Given the description of an element on the screen output the (x, y) to click on. 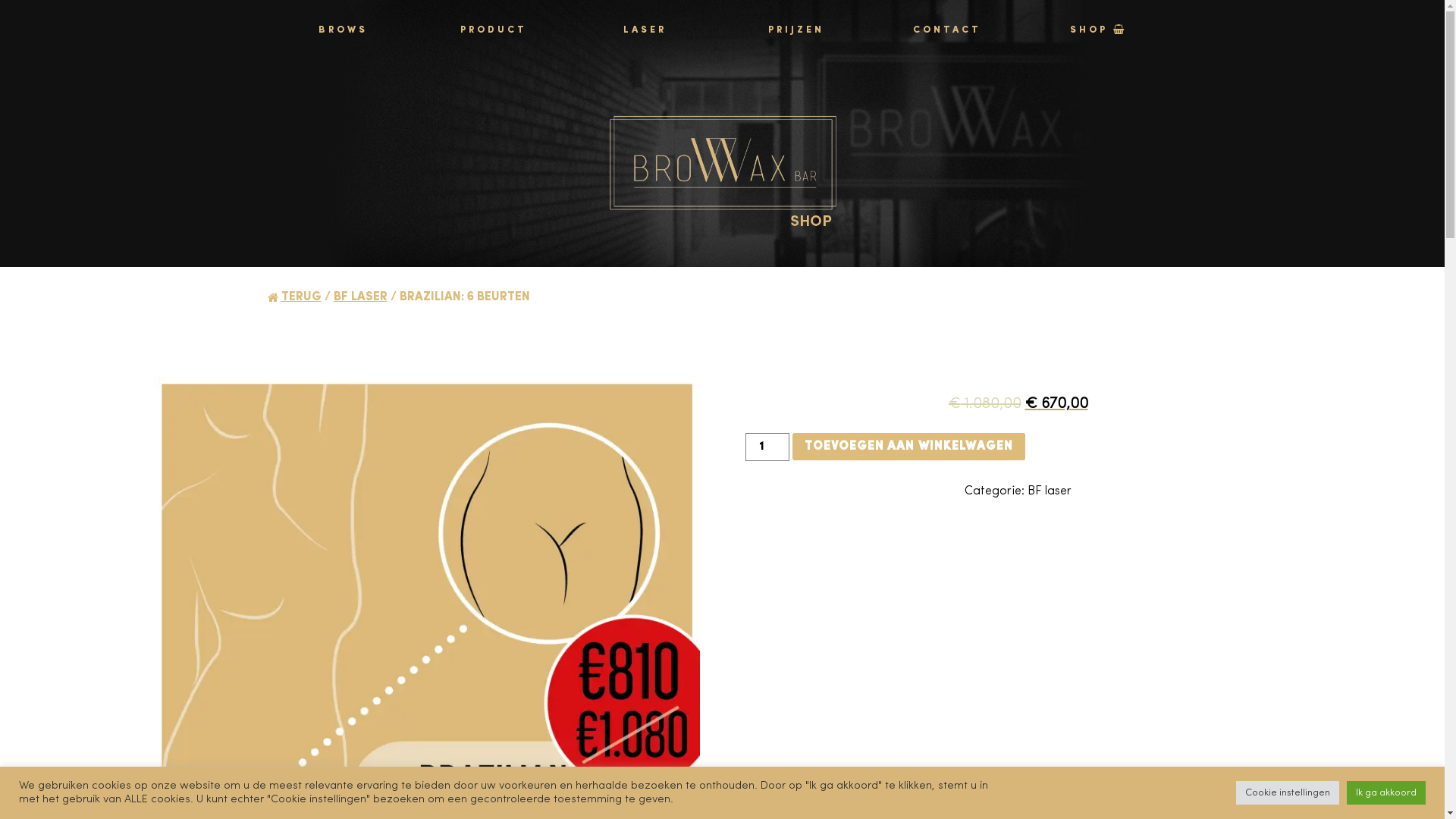
BF LASER Element type: text (360, 297)
TOEVOEGEN AAN WINKELWAGEN Element type: text (908, 446)
Cookie instellingen Element type: text (1287, 792)
BF laser Element type: text (1049, 491)
CONTACT Element type: text (947, 30)
Ik ga akkoord Element type: text (1385, 792)
BROWS Element type: text (341, 30)
PRIJZEN Element type: text (795, 30)
SHOP Element type: text (1097, 30)
PRODUCT Element type: text (493, 30)
TERUG Element type: text (300, 297)
LASER Element type: text (644, 30)
